Given the description of an element on the screen output the (x, y) to click on. 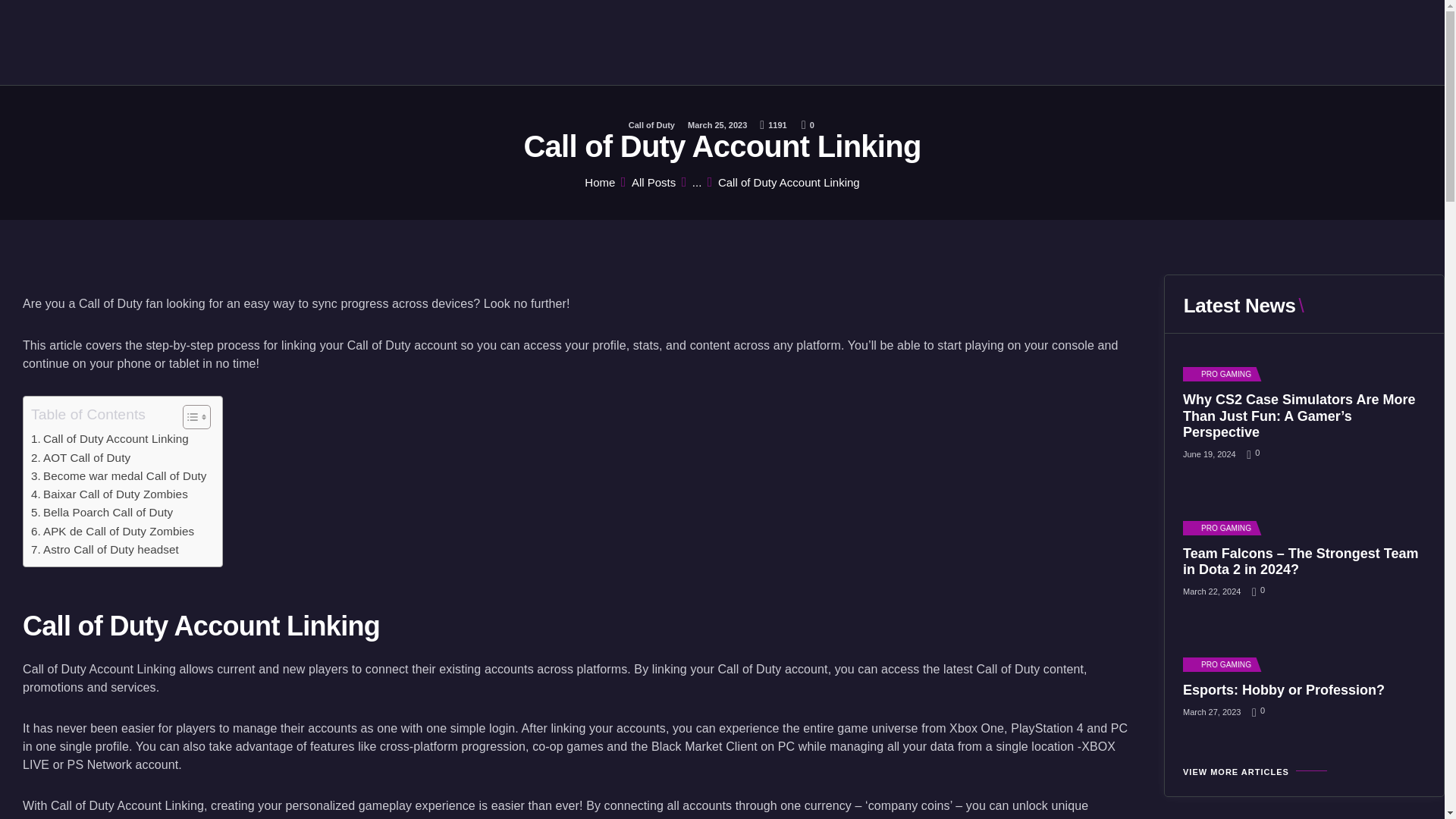
Baixar Call of Duty Zombies (108, 494)
0 (808, 124)
View all posts in Pro gaming (1219, 374)
Bella Poarch Call of Duty (101, 512)
Like (808, 124)
March 25, 2023 (716, 124)
View all posts in Pro gaming (1219, 528)
Call of Duty (651, 124)
All Posts (653, 182)
APK de Call of Duty Zombies (111, 531)
Call of Duty Account Linking (109, 438)
Become war medal Call of Duty (118, 475)
AOT Call of Duty (80, 457)
Call of Duty Account Linking (109, 438)
